Given the description of an element on the screen output the (x, y) to click on. 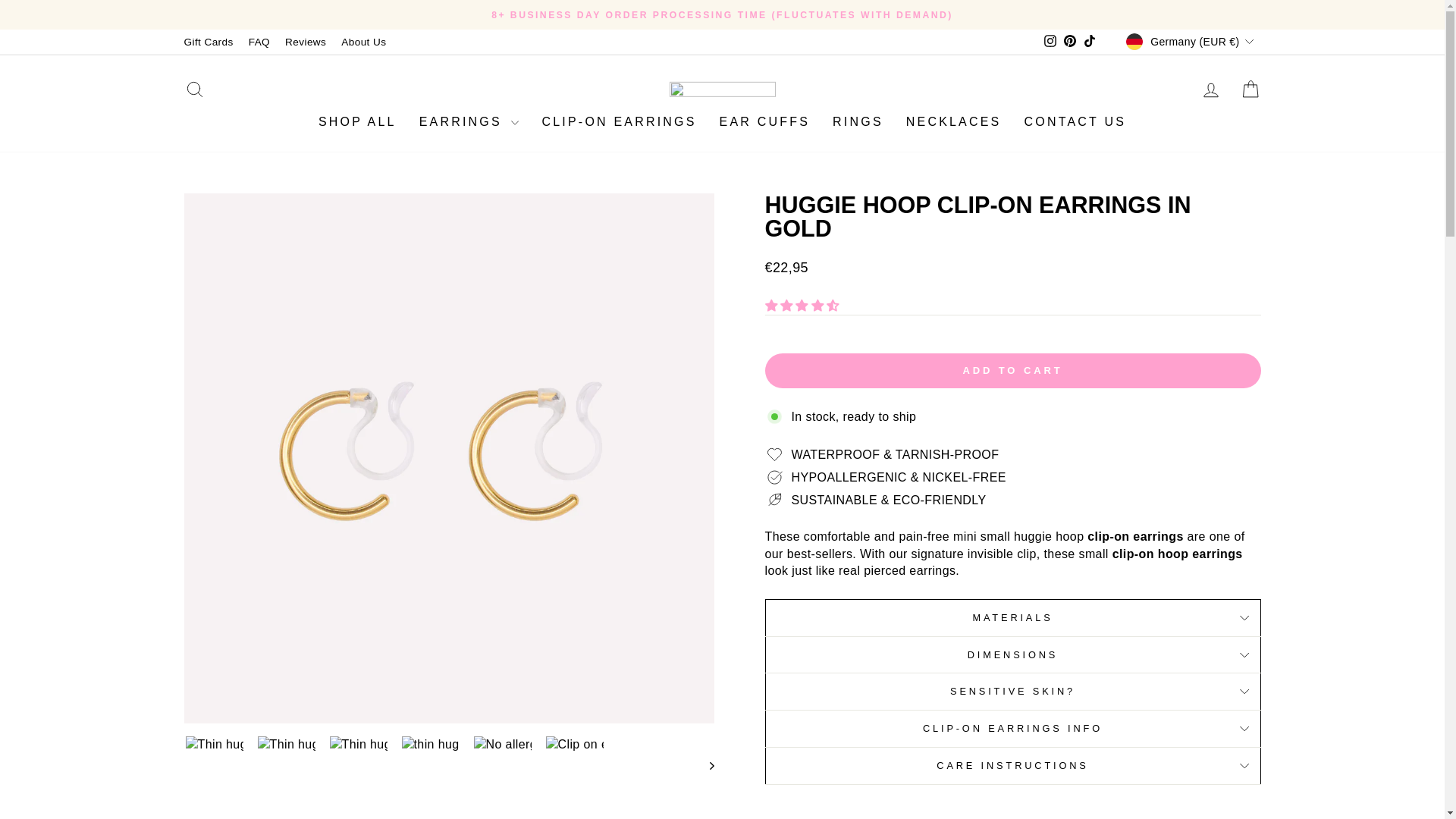
FAQ (259, 42)
Gift Cards (1050, 42)
TikTok (208, 42)
Reviews (1089, 42)
ACCOUNT (305, 42)
atrenda on Instagram (1210, 89)
Pinterest (1050, 42)
ICON-SEARCH (1069, 42)
atrenda on Pinterest (194, 88)
